Given the description of an element on the screen output the (x, y) to click on. 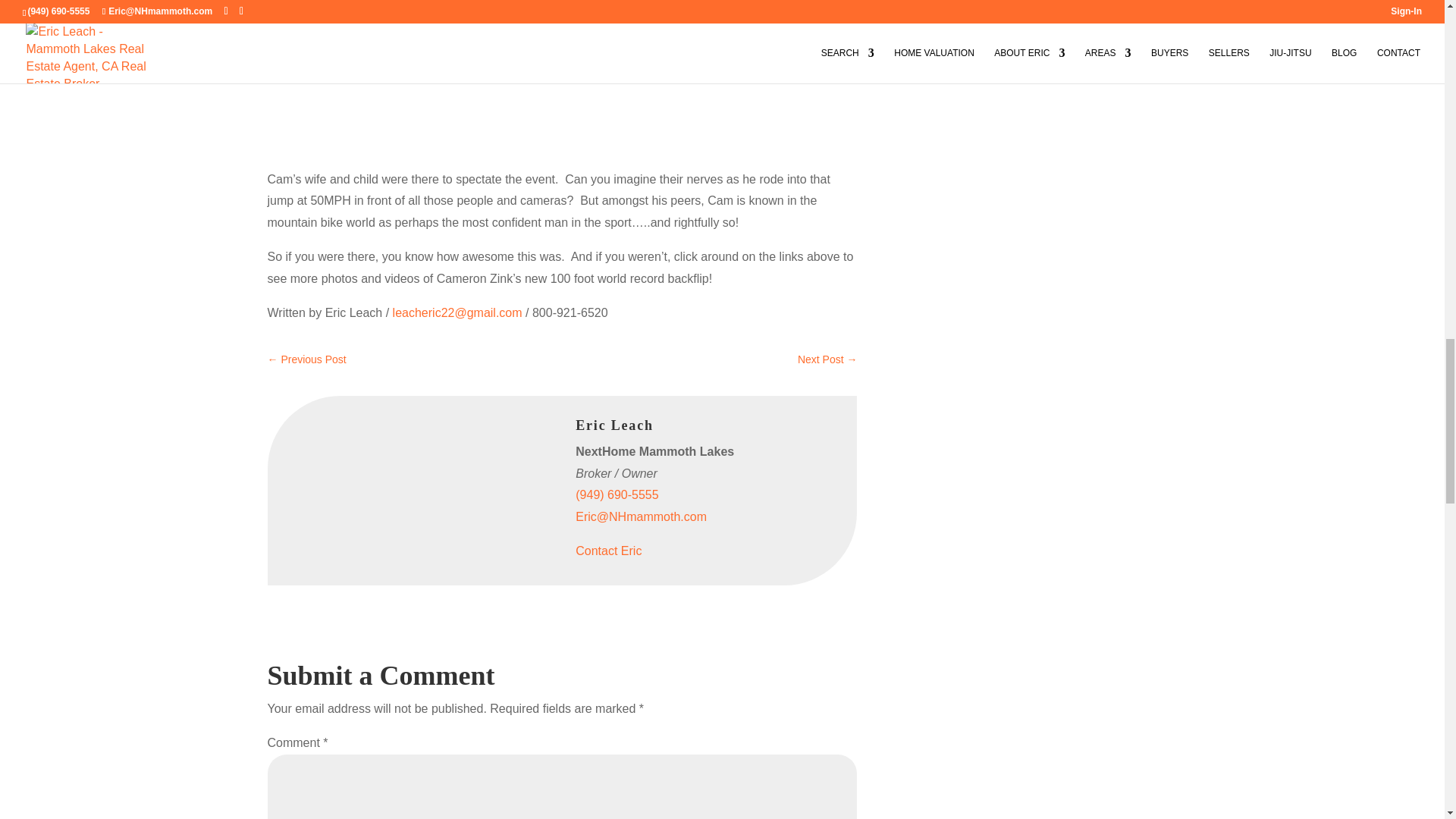
Call Eric (616, 494)
Eric Leach - Real Estate Broker (380, 452)
Contact Eric (608, 550)
